Given the description of an element on the screen output the (x, y) to click on. 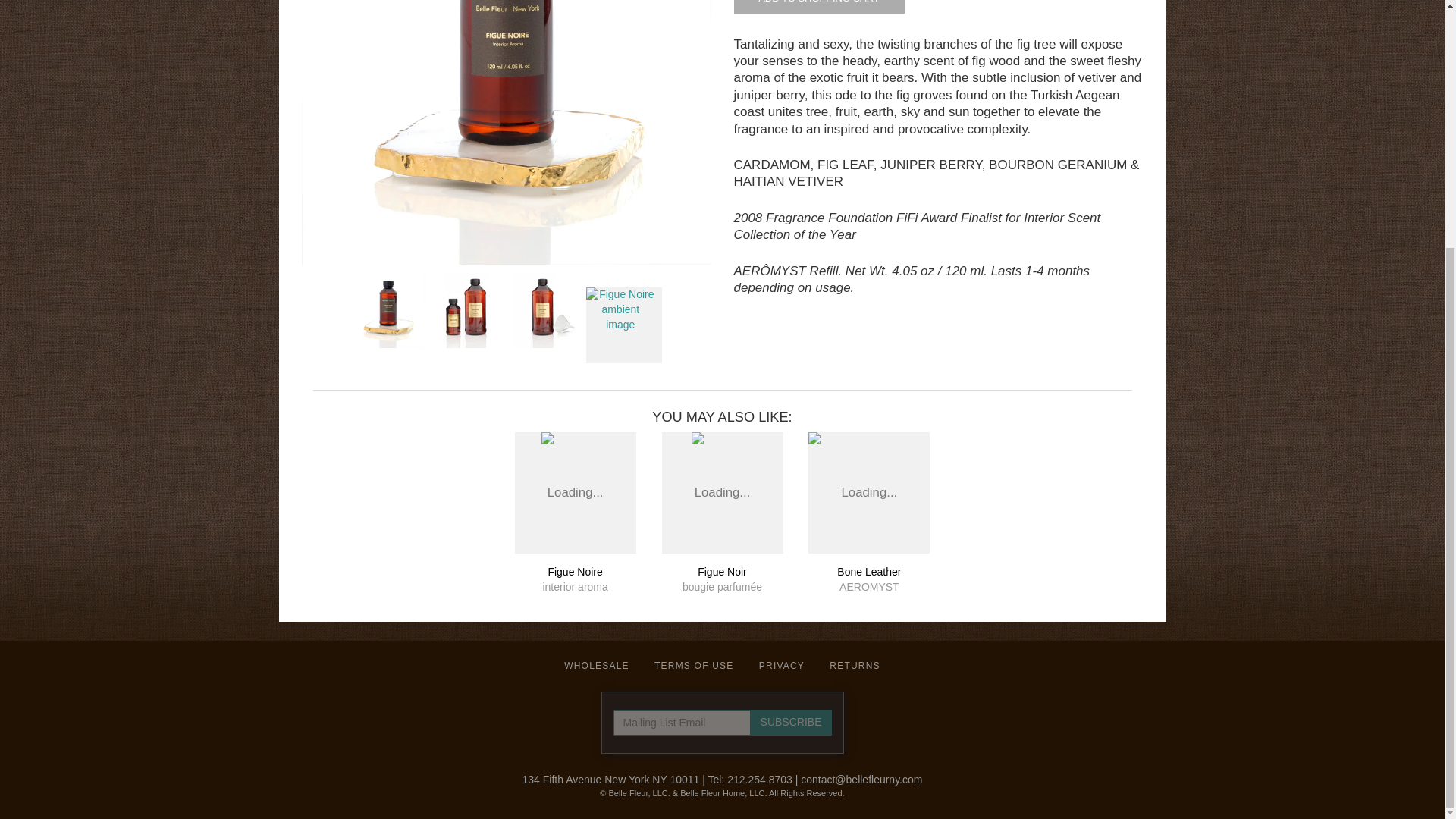
Figue Noire bottle sizes (467, 309)
View Figue Noire (868, 580)
Add to Shopping Cart (574, 465)
Subscribe (818, 6)
Figue Noire bottle and funnel (791, 722)
View Figue Noir (544, 309)
Add to Shopping Cart (721, 465)
TERMS OF USE (818, 6)
PRIVACY (574, 580)
Figue Noire (693, 665)
Figue Noire ambient image (781, 665)
RETURNS (506, 132)
WHOLESALE (624, 325)
